Given the description of an element on the screen output the (x, y) to click on. 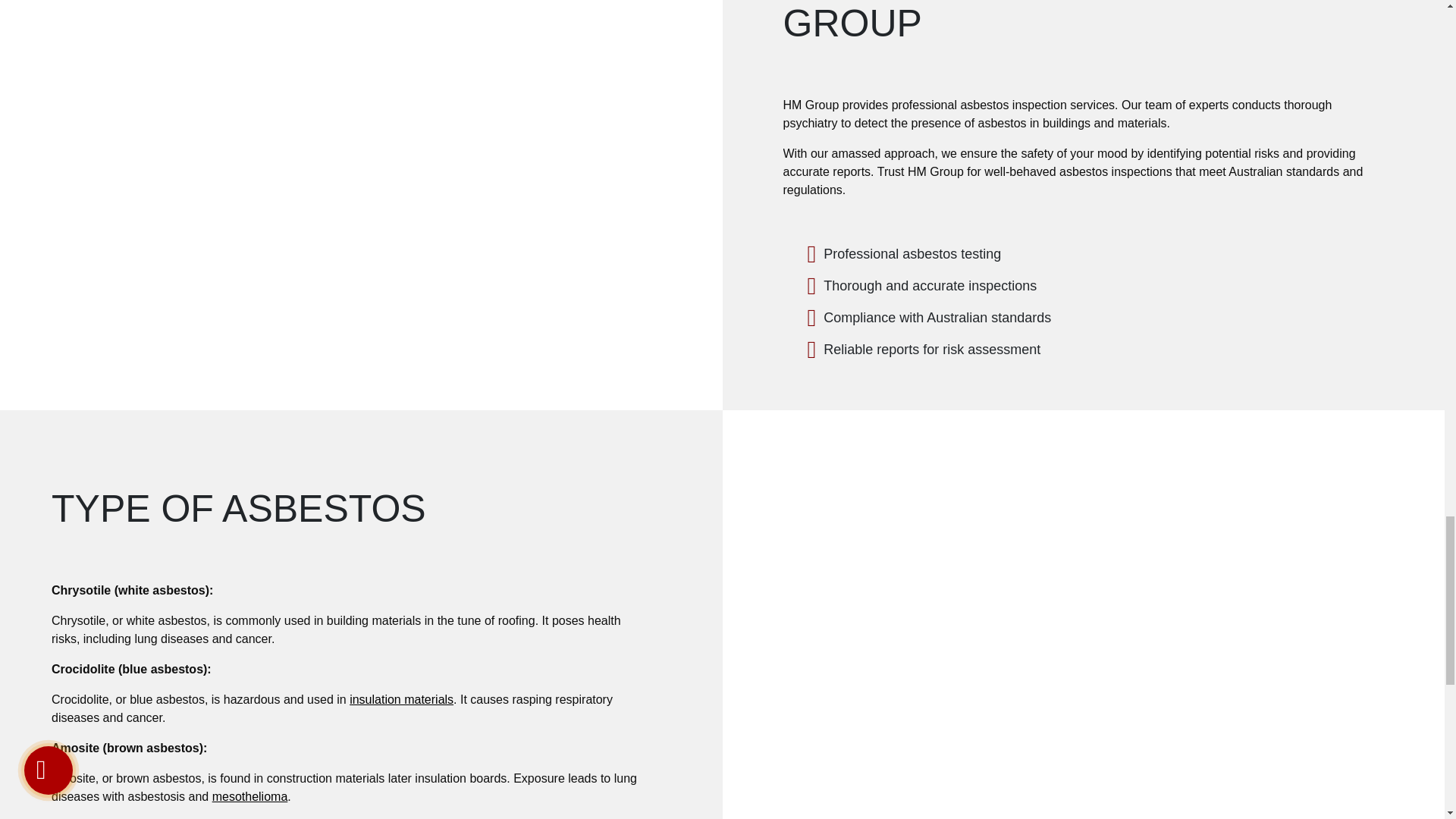
insulation materials (400, 698)
mesothelioma (250, 796)
